Given the description of an element on the screen output the (x, y) to click on. 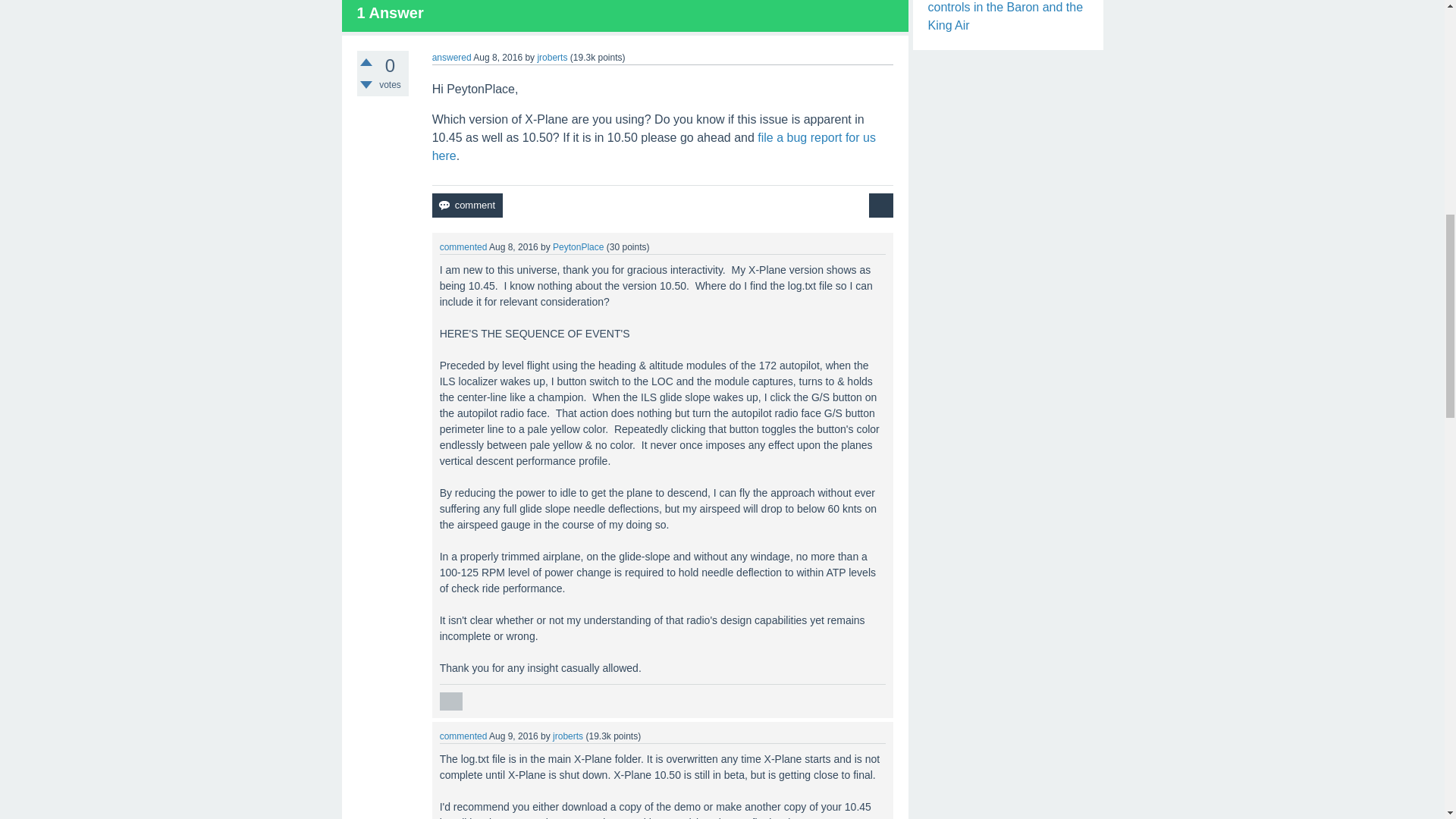
comment (467, 205)
ask related question (881, 205)
jroberts (552, 57)
Ask a new question relating to this answer (881, 205)
comment (467, 205)
reply (451, 701)
Reply to this comment (451, 701)
ask related question (881, 205)
Click to vote up (365, 62)
Click to vote down (365, 84)
file a bug report for us here (654, 146)
answered (451, 57)
Add a comment on this answer (467, 205)
